Given the description of an element on the screen output the (x, y) to click on. 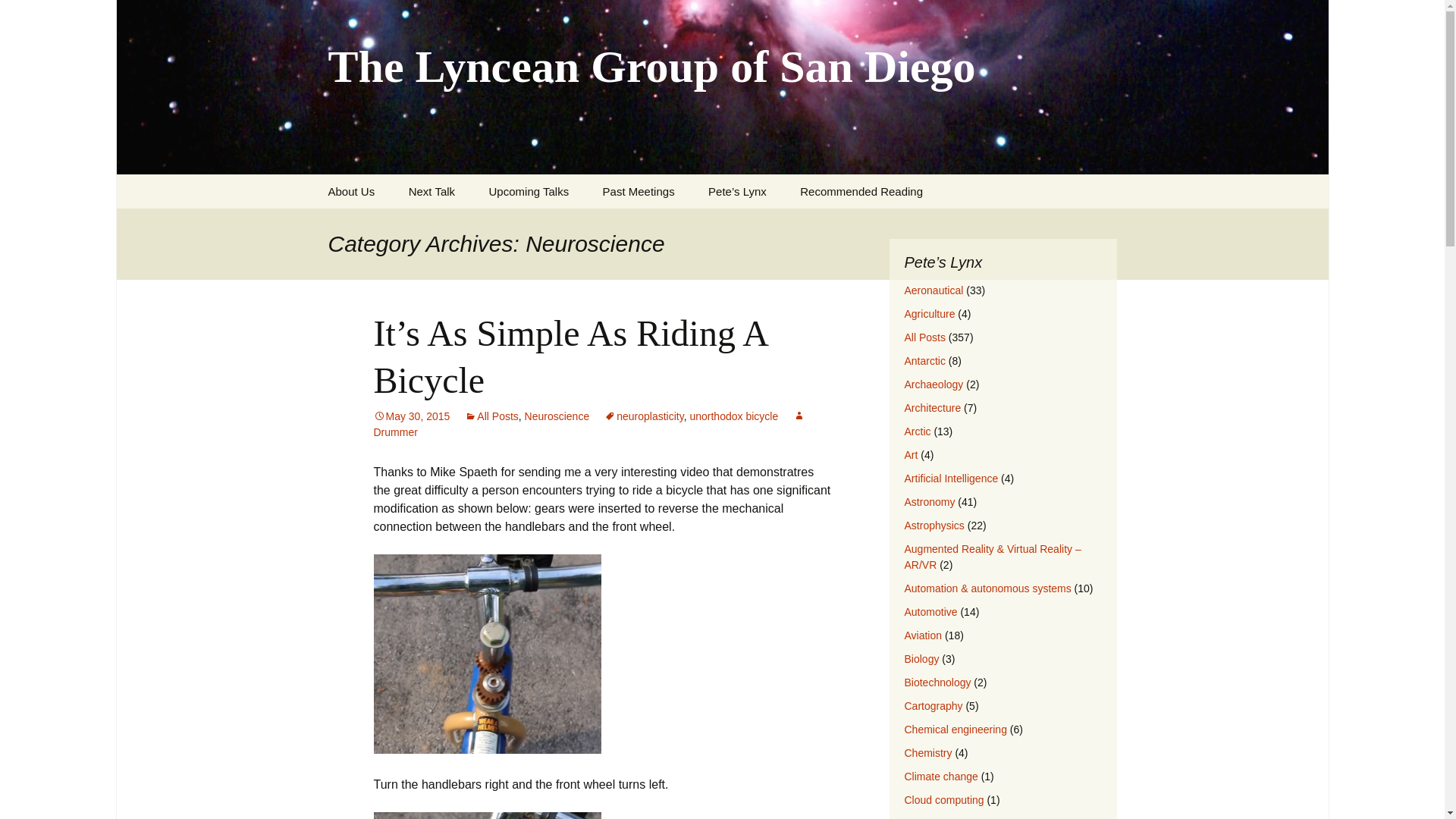
Aeronautical (933, 290)
neuroplasticity (643, 416)
unorthodox bicycle (732, 416)
Recommended Reading (860, 191)
Past Meetings (639, 191)
About Us (351, 191)
2002-2003 (663, 225)
May 30, 2015 (410, 416)
View all posts by Drummer (588, 424)
